Given the description of an element on the screen output the (x, y) to click on. 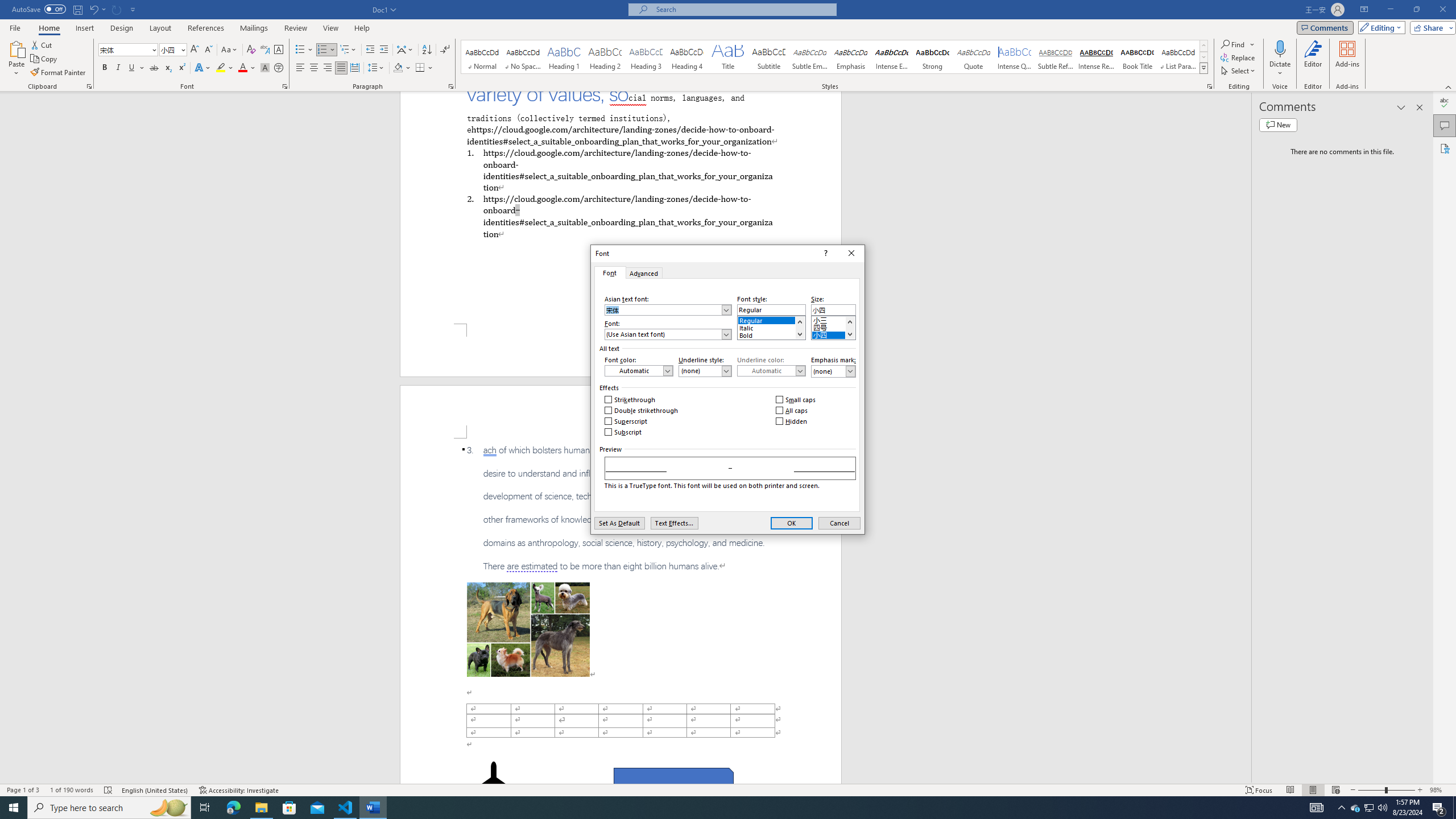
Q2790: 100% (1382, 807)
Accessibility Checker Accessibility: Investigate (239, 790)
Comments (1325, 27)
Undo Apply Quick Style (92, 9)
Rectangle: Diagonal Corners Snipped 2 (672, 781)
Web Layout (1335, 790)
AutomationID: 1797 (849, 327)
Borders (424, 67)
Class: MsoCommandBar (728, 789)
Row up (1203, 45)
Spelling and Grammar Check Errors (108, 790)
